Given the description of an element on the screen output the (x, y) to click on. 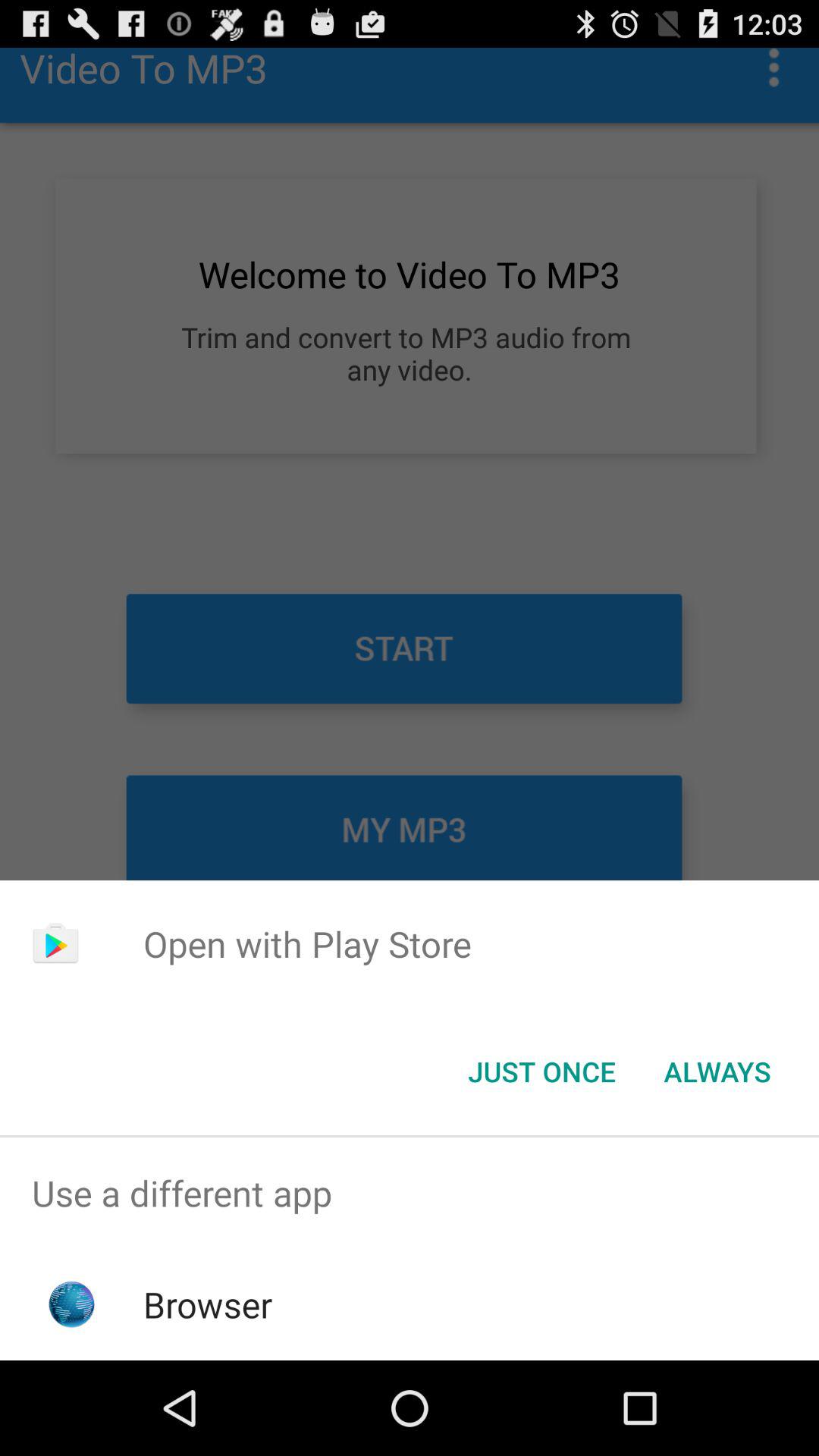
select the app below open with play item (541, 1071)
